Given the description of an element on the screen output the (x, y) to click on. 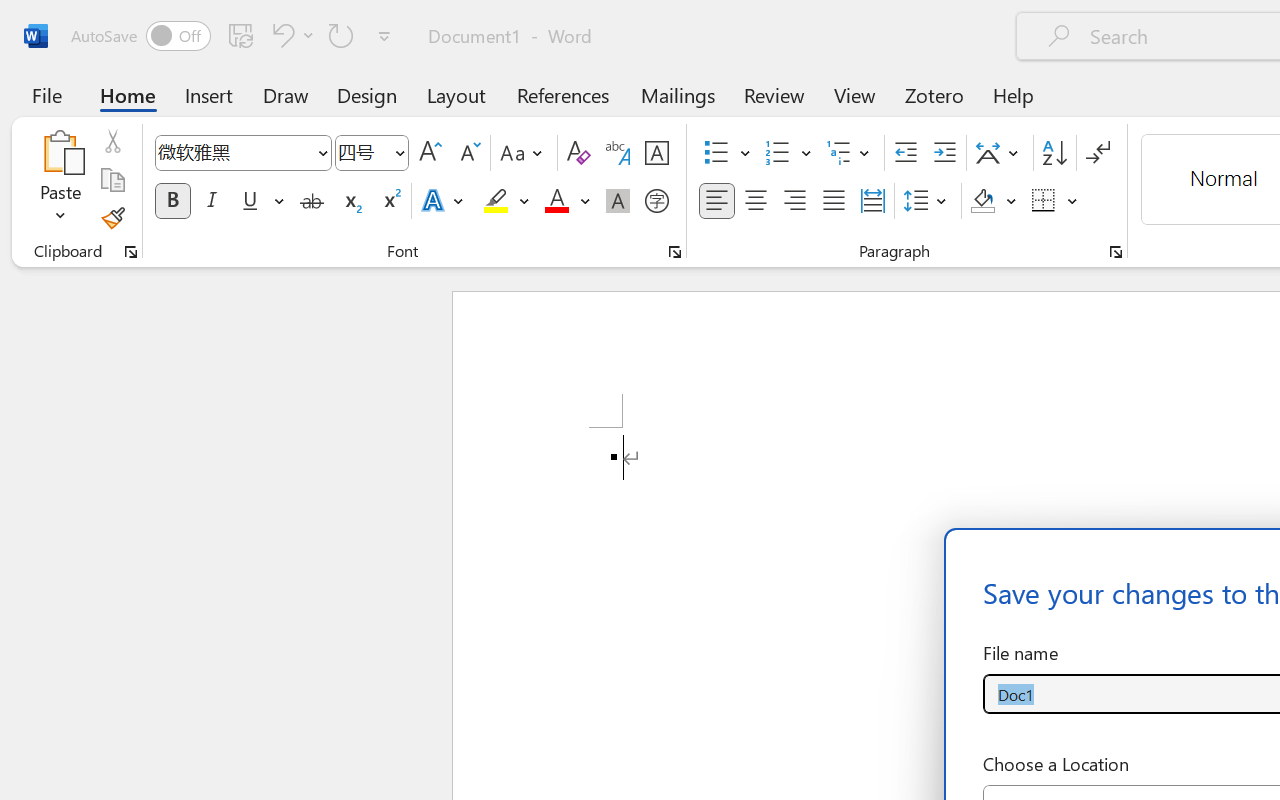
Undo <ApplyStyleToDoc>b__0 (290, 35)
